Given the description of an element on the screen output the (x, y) to click on. 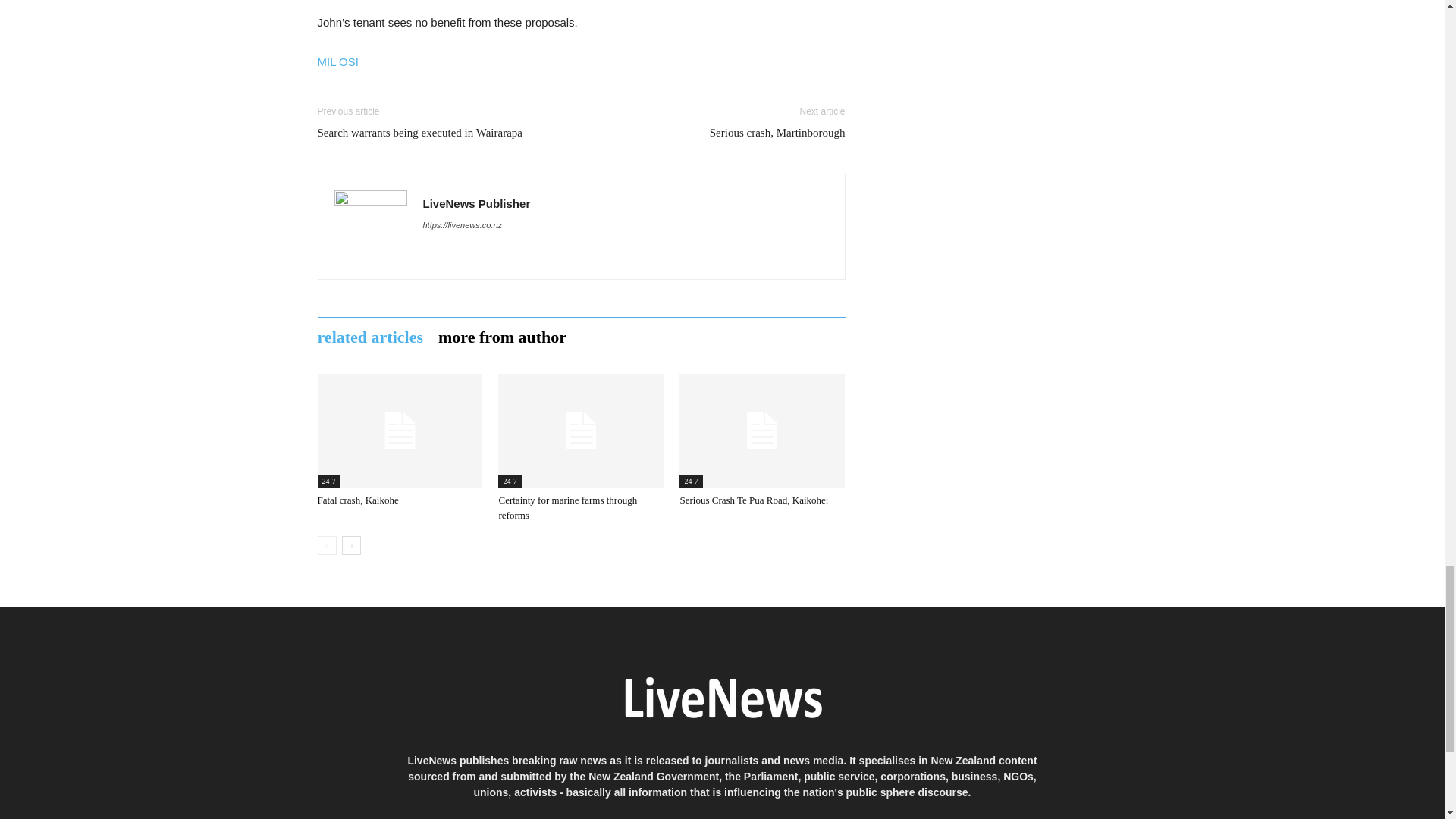
Serious Crash Te Pua Road, Kaikohe: (753, 500)
Certainty for marine farms through reforms (580, 430)
Serious Crash Te Pua Road, Kaikohe: (761, 430)
Fatal crash, Kaikohe (399, 430)
Certainty for marine farms through reforms (567, 507)
Fatal crash, Kaikohe (357, 500)
